Given the description of an element on the screen output the (x, y) to click on. 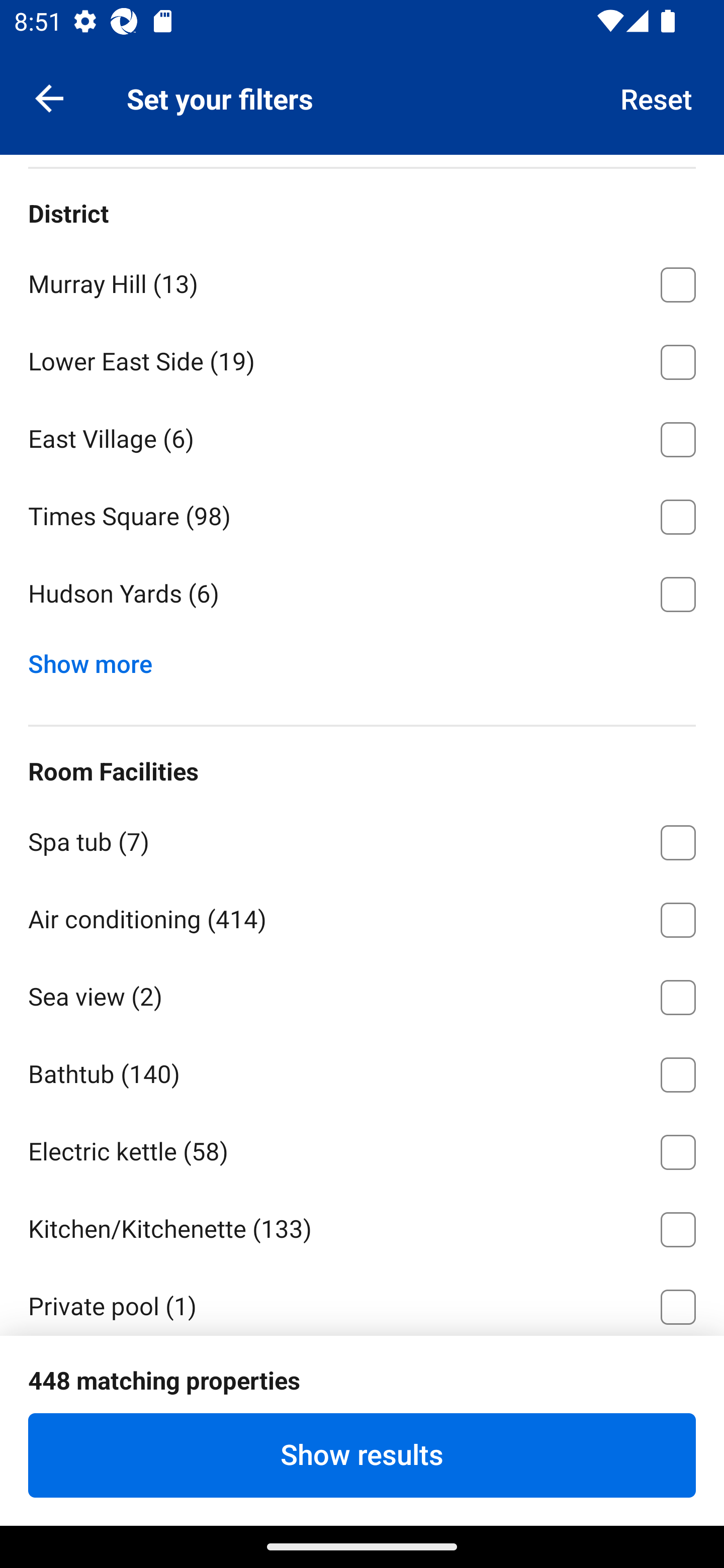
Navigate up (49, 97)
Reset (656, 97)
Murray Hill ⁦(13) (361, 281)
Lower East Side ⁦(19) (361, 358)
East Village ⁦(6) (361, 436)
Times Square ⁦(98) (361, 513)
Hudson Yards ⁦(6) (361, 593)
Show more (97, 659)
Spa tub ⁦(7) (361, 839)
Air conditioning ⁦(414) (361, 916)
Sea view ⁦(2) (361, 993)
Bathtub ⁦(140) (361, 1071)
Electric kettle ⁦(58) (361, 1148)
Kitchen/Kitchenette ⁦(133) (361, 1225)
Private pool ⁦(1) (361, 1300)
Private bathroom ⁦(312) (361, 1380)
Show results (361, 1454)
